Given the description of an element on the screen output the (x, y) to click on. 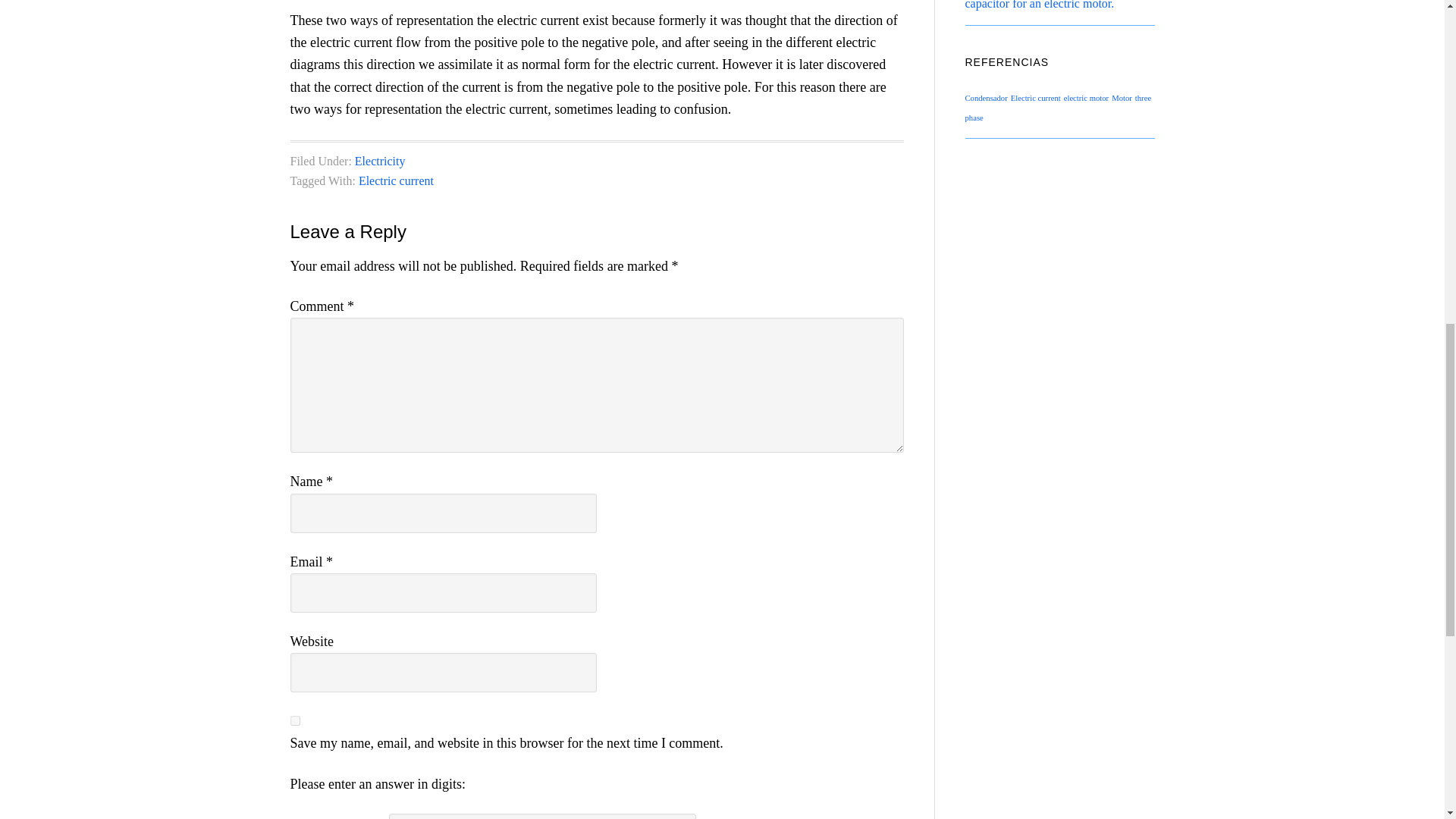
three phase (1057, 108)
Electric current (395, 180)
yes (294, 720)
Electricity (380, 160)
electric motor (1086, 98)
Condensador (985, 98)
Electric current (1035, 98)
Calculation of a capacitor for an electric motor. (1049, 4)
Motor (1122, 98)
